Given the description of an element on the screen output the (x, y) to click on. 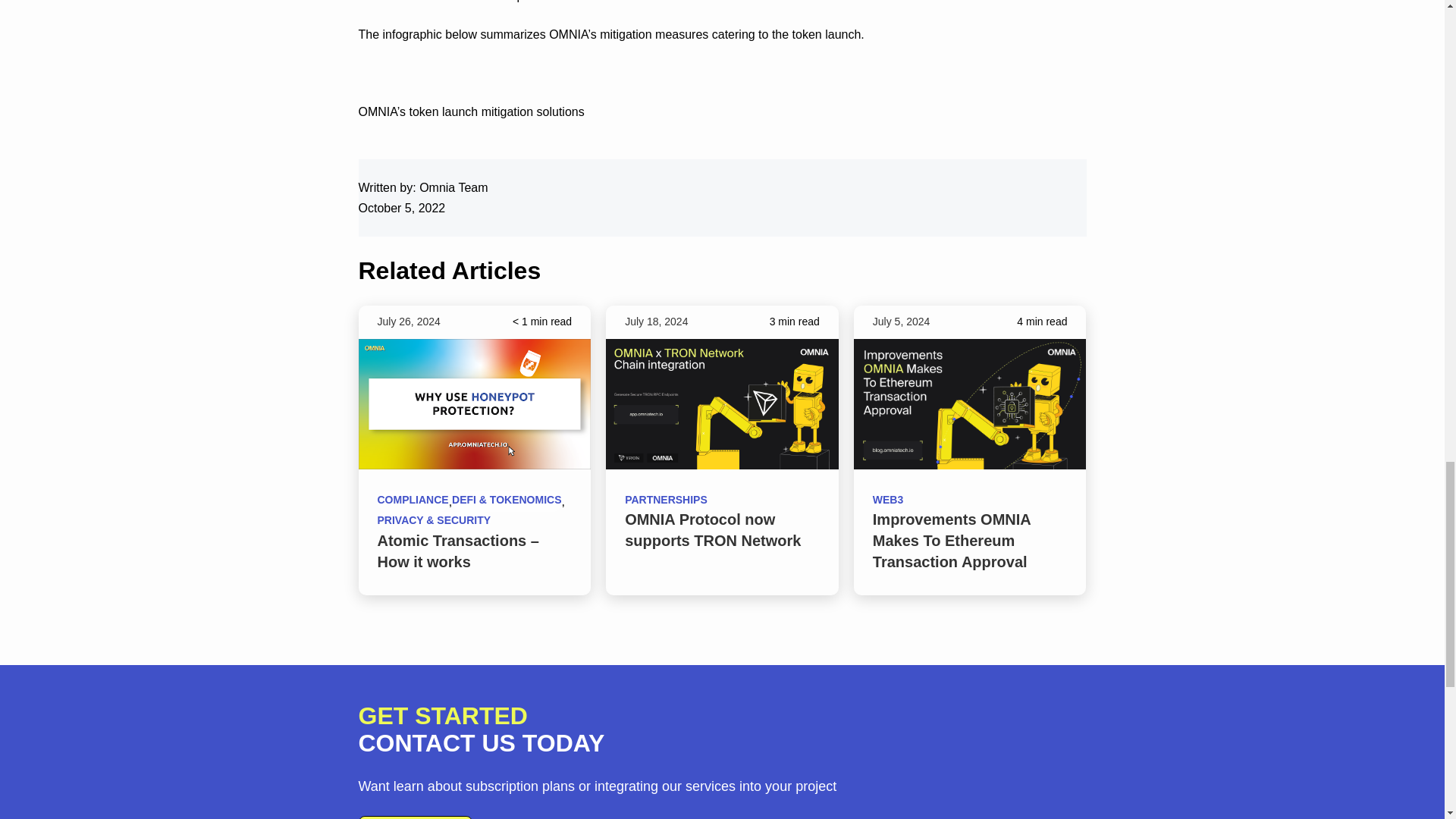
COMPLIANCE (412, 501)
PARTNERSHIPS (665, 500)
OMNIA Protocol now supports TRON Network (712, 529)
July 18, 2024 (655, 321)
July 26, 2024 (409, 321)
